Given the description of an element on the screen output the (x, y) to click on. 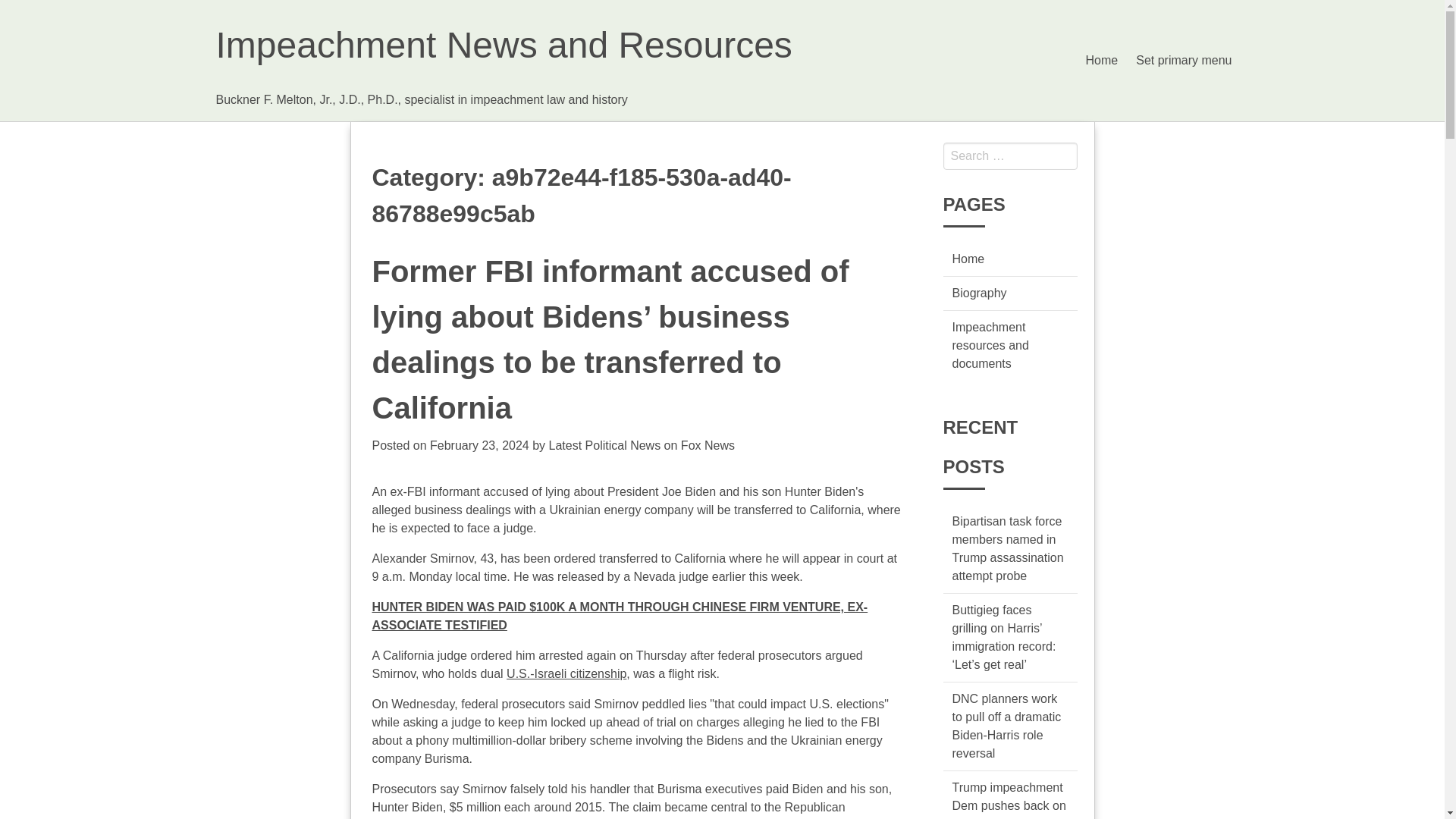
Impeachment resources and documents (990, 345)
Biography (979, 292)
Latest Political News on Fox News (641, 445)
Home (1101, 60)
President Joe Biden (661, 491)
Biography (979, 292)
Home (968, 258)
Impeachment resources and documents (990, 345)
February 23, 2024 (479, 445)
Republican impeachment (607, 809)
Set primary menu (1183, 60)
Search for: (1010, 155)
Nevada judge (671, 576)
